Given the description of an element on the screen output the (x, y) to click on. 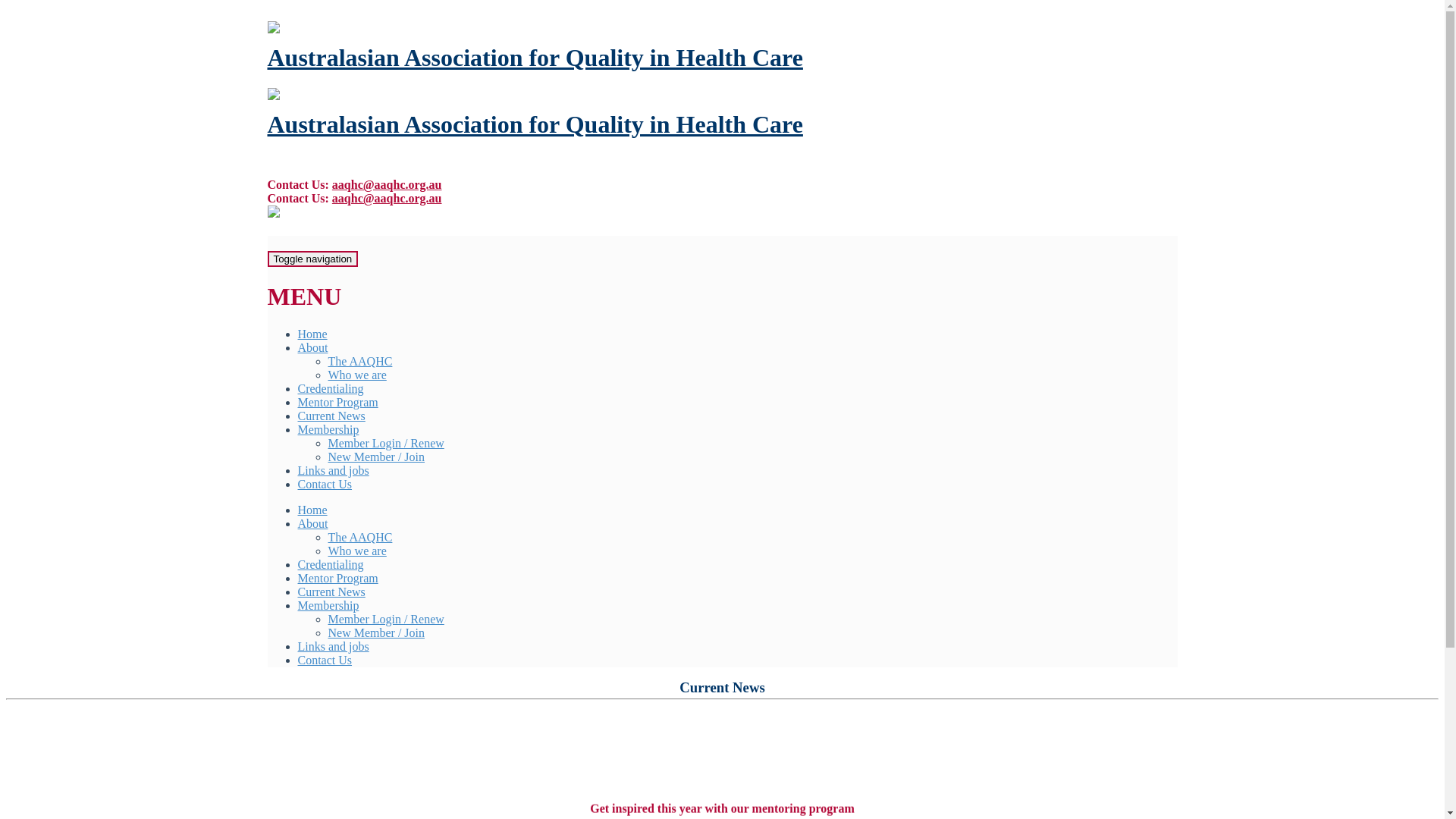
Membership Element type: text (327, 605)
Links and jobs Element type: text (332, 646)
The AAQHC Element type: text (359, 536)
Mentor Program Element type: text (337, 401)
Australasian Association for Quality in Health Care Element type: text (534, 57)
About Element type: text (312, 347)
The AAQHC Element type: text (359, 360)
Member Login / Renew Element type: text (385, 442)
Links and jobs Element type: text (332, 470)
Credentialing Element type: text (330, 388)
Who we are Element type: text (356, 374)
Australasian Association for Quality in Health Care Element type: text (534, 124)
Home Element type: text (311, 333)
aaqhc@aaqhc.org.au Element type: text (387, 184)
Credentialing Element type: text (330, 564)
New Member / Join Element type: text (375, 456)
New Member / Join Element type: text (375, 632)
Who we are Element type: text (356, 550)
Home Element type: text (311, 509)
Toggle navigation Element type: text (311, 258)
Contact Us Element type: text (324, 659)
Membership Element type: text (327, 429)
Contact Us Element type: text (324, 483)
Mentor Program Element type: text (337, 577)
Current News Element type: text (330, 415)
Member Login / Renew Element type: text (385, 618)
About Element type: text (312, 523)
Current News Element type: text (330, 591)
aaqhc@aaqhc.org.au Element type: text (387, 197)
